Given the description of an element on the screen output the (x, y) to click on. 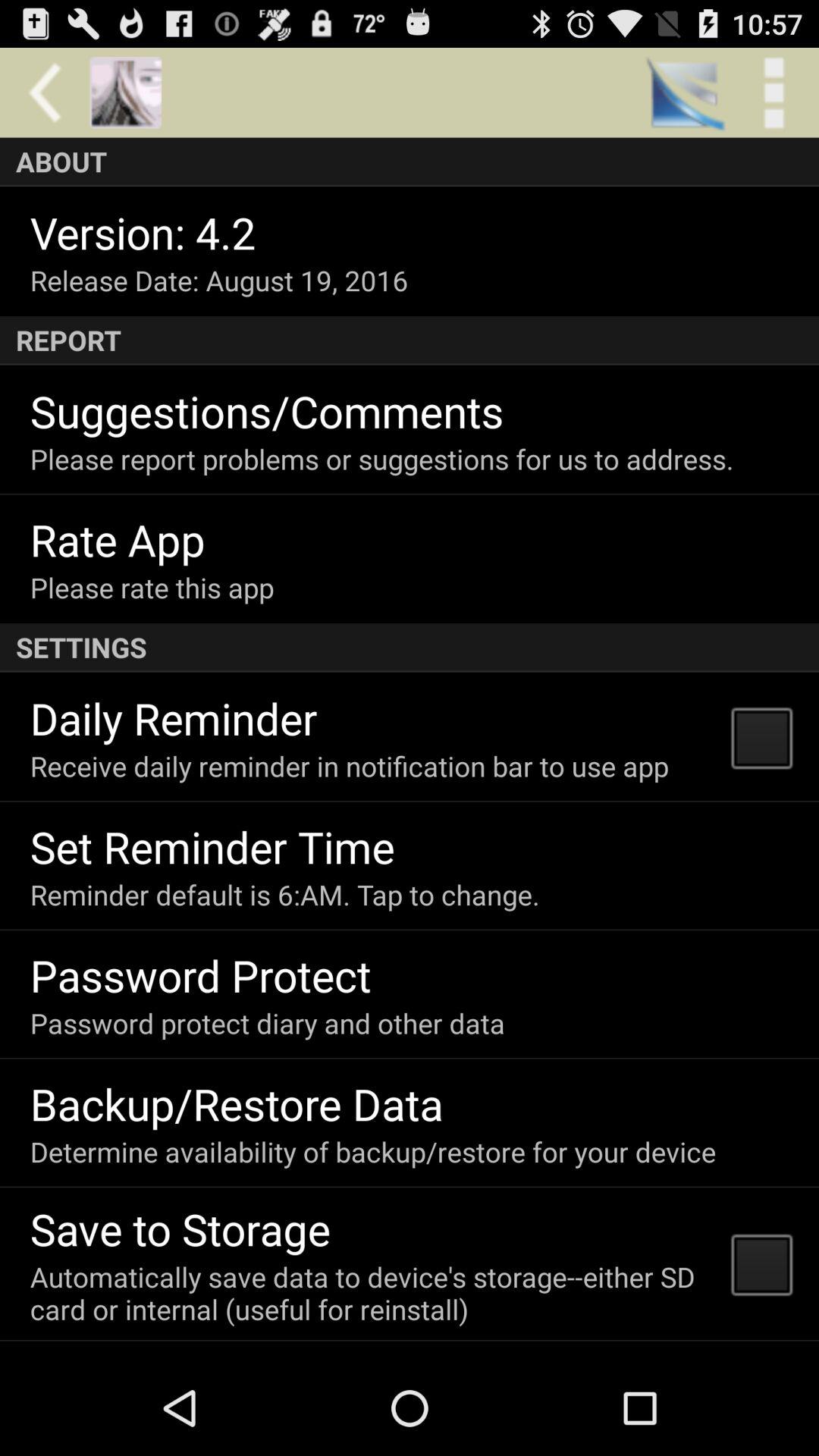
choose icon below automatically save data (181, 1356)
